Given the description of an element on the screen output the (x, y) to click on. 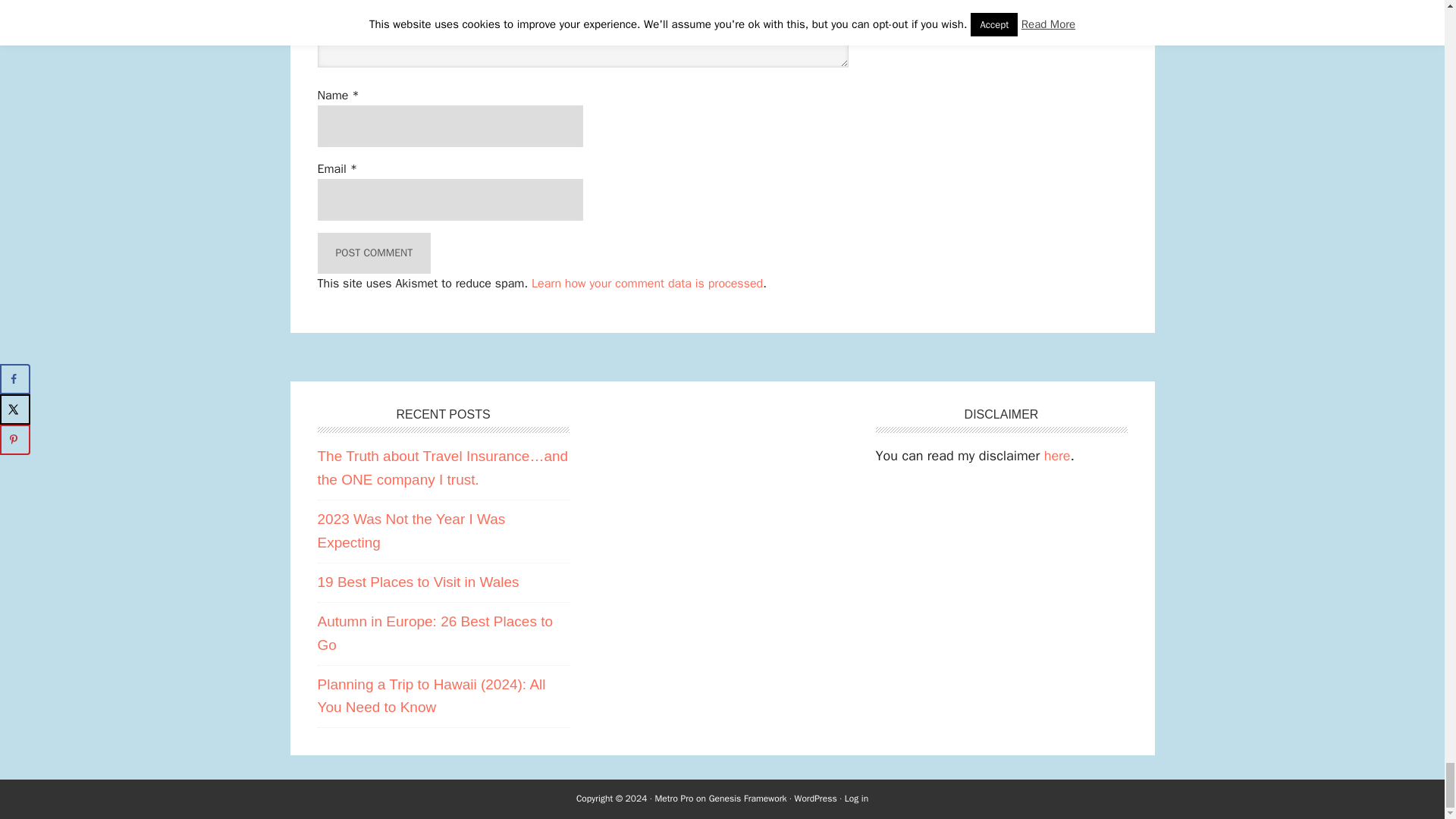
Post Comment (373, 253)
